Given the description of an element on the screen output the (x, y) to click on. 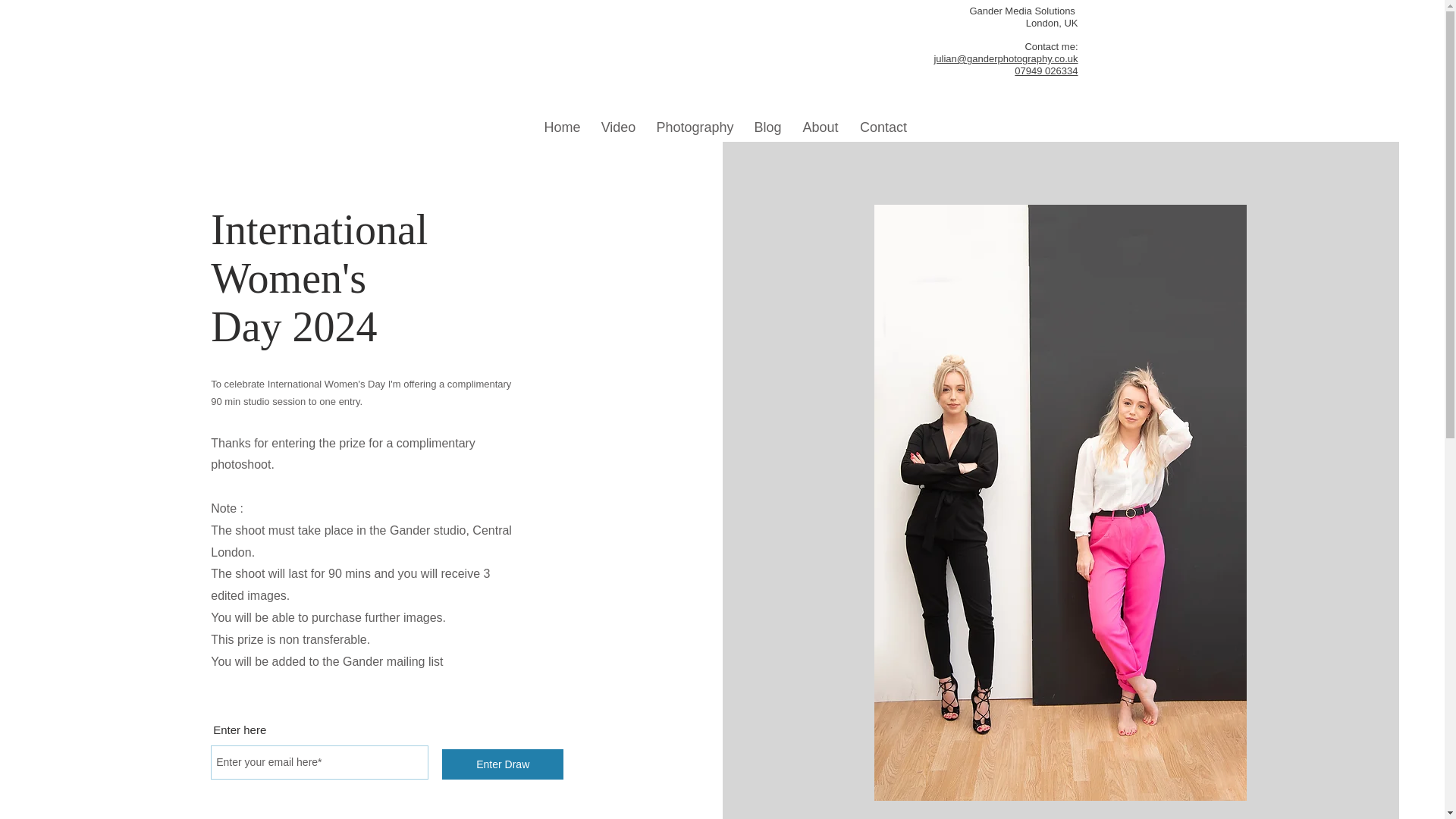
Photography (695, 120)
About (820, 120)
Enter Draw (502, 764)
Home (562, 120)
Contact (882, 120)
Blog (768, 120)
Video (618, 120)
